Given the description of an element on the screen output the (x, y) to click on. 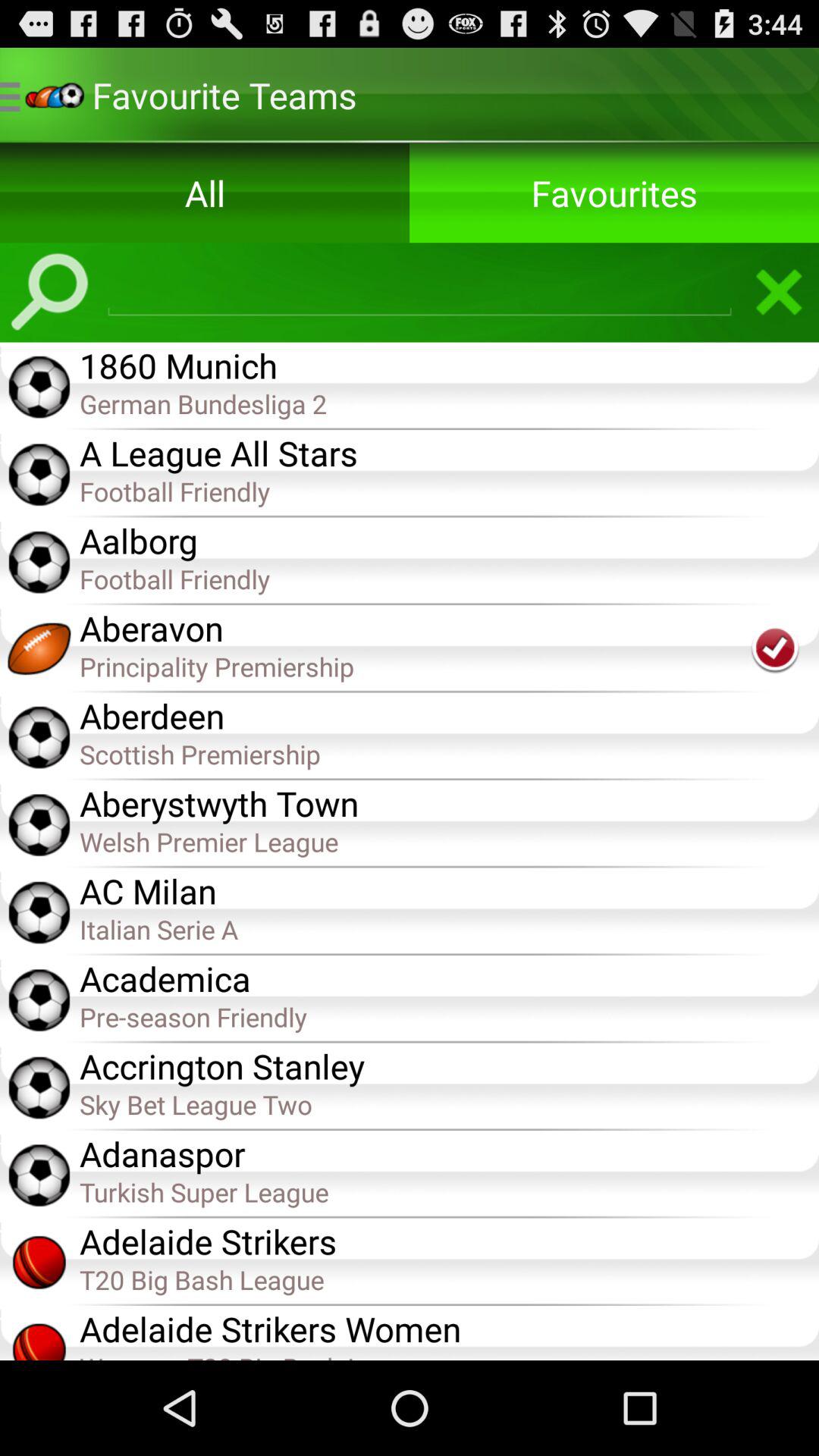
turn off sky bet league item (449, 1103)
